Given the description of an element on the screen output the (x, y) to click on. 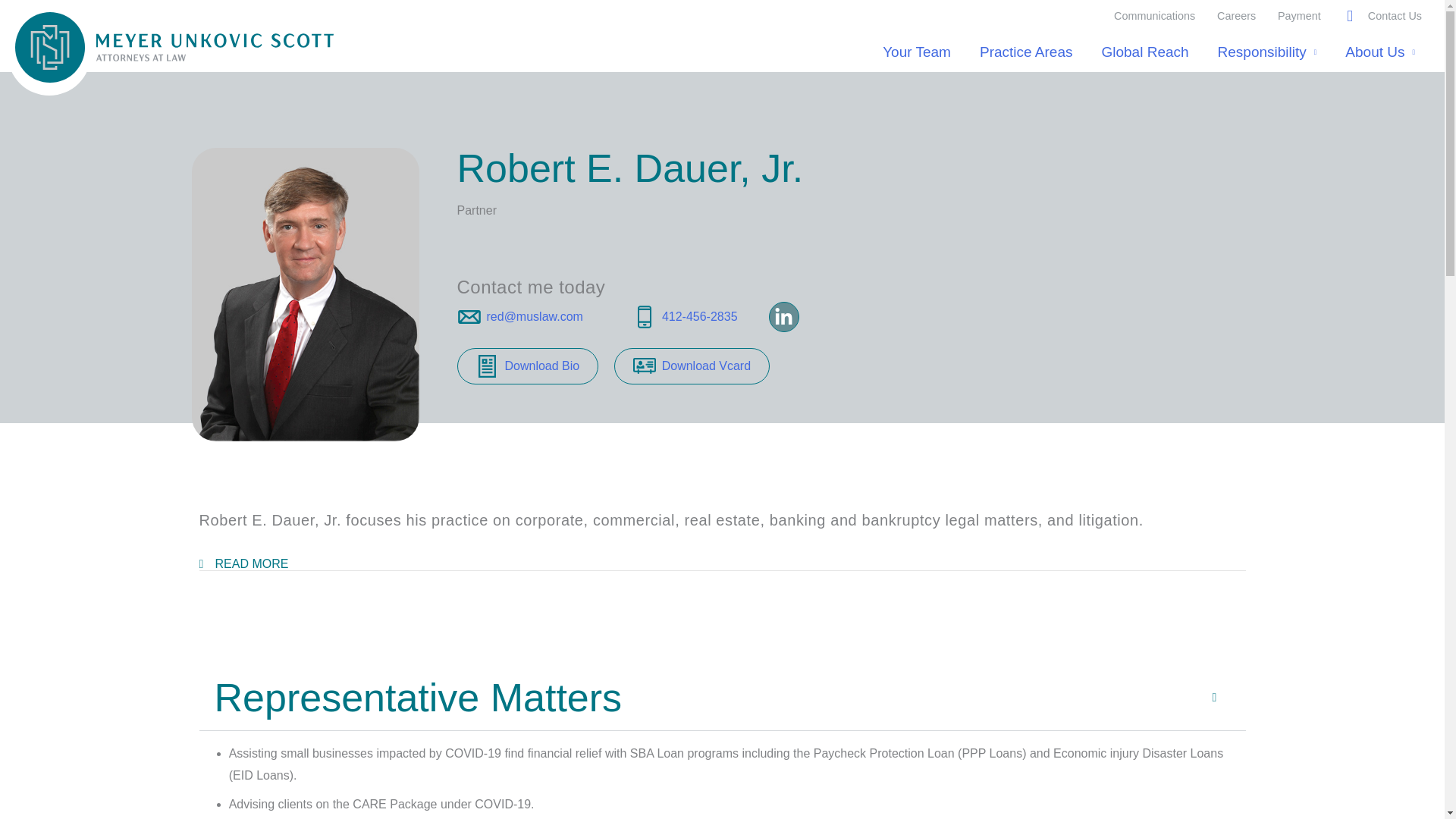
Responsibility (1268, 52)
Careers (1236, 15)
Contact Us (1395, 15)
Your Team (916, 52)
About Us (1379, 52)
Global Reach (1144, 52)
Communications (1155, 15)
Payment (1299, 15)
Practice Areas (1026, 52)
